Given the description of an element on the screen output the (x, y) to click on. 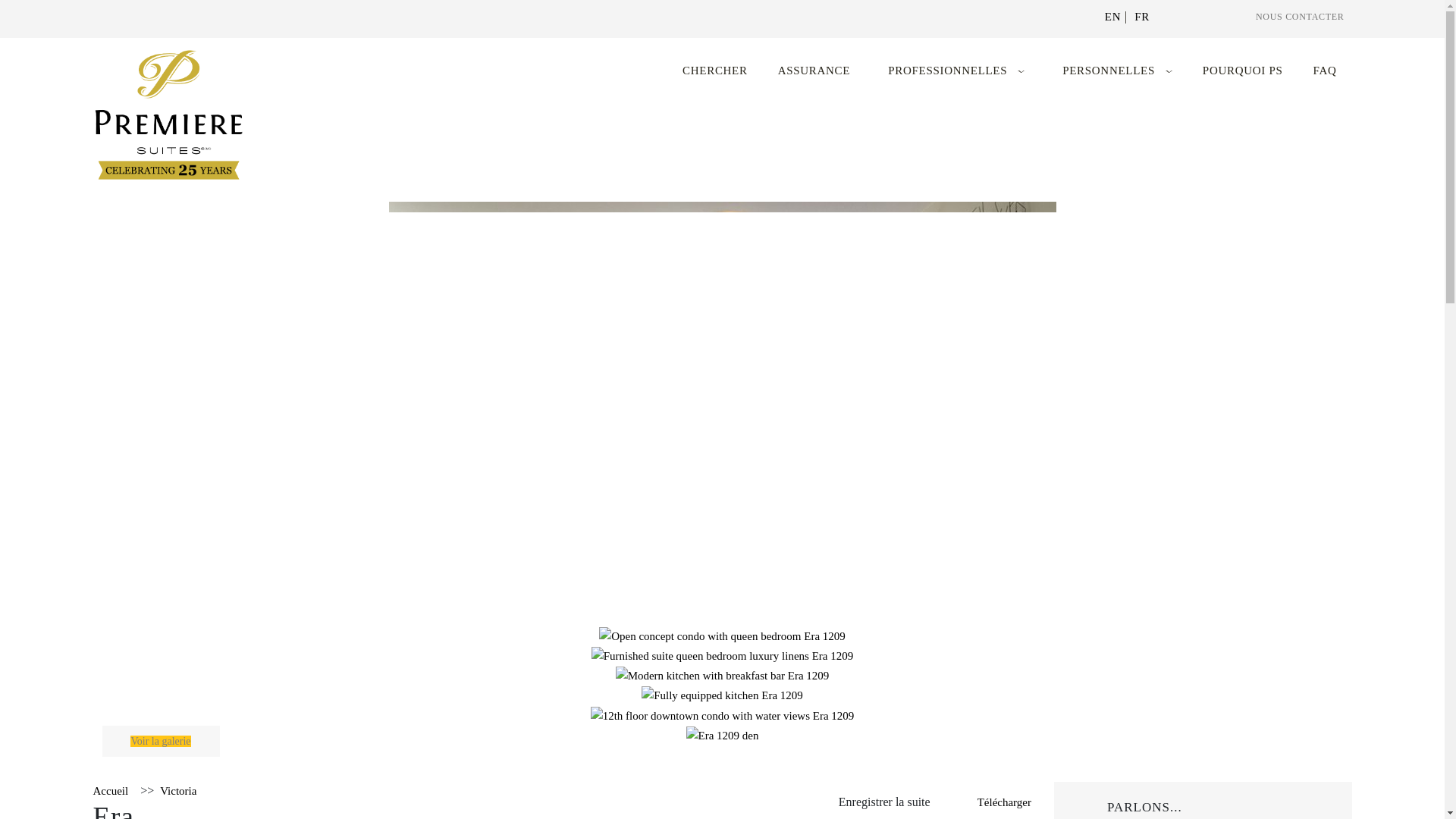
EN (1113, 16)
Solutions personnelles (1108, 70)
Victoria (178, 790)
FR (1142, 16)
CHERCHER (715, 70)
Accueil (110, 790)
PROFESSIONNELLES (947, 70)
ASSURANCE (813, 70)
Francais (1142, 16)
FAQ (1324, 70)
